Given the description of an element on the screen output the (x, y) to click on. 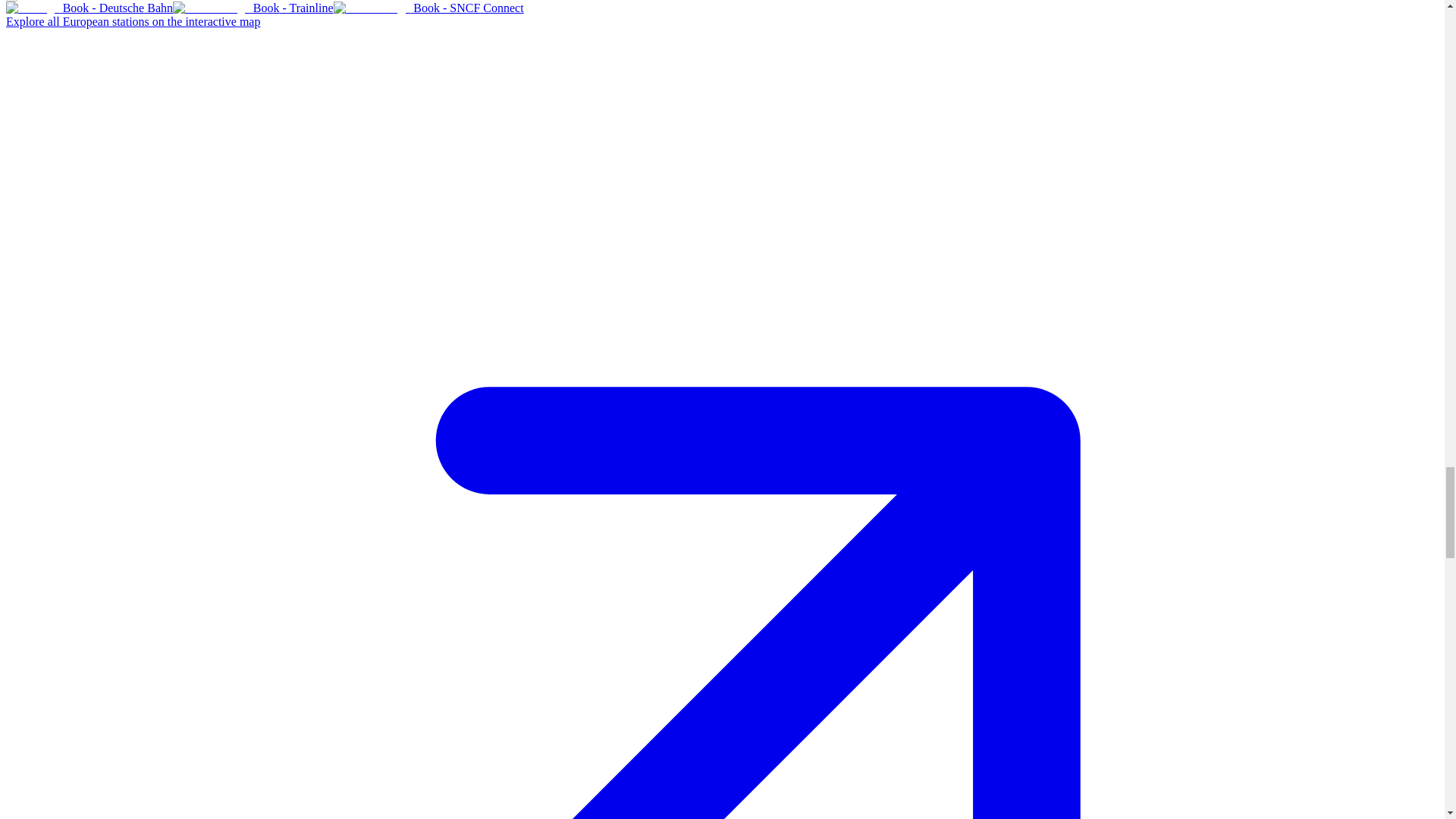
Book - SNCF Connect (428, 7)
Book - Trainline (253, 7)
Book - Deutsche Bahn (89, 7)
